Given the description of an element on the screen output the (x, y) to click on. 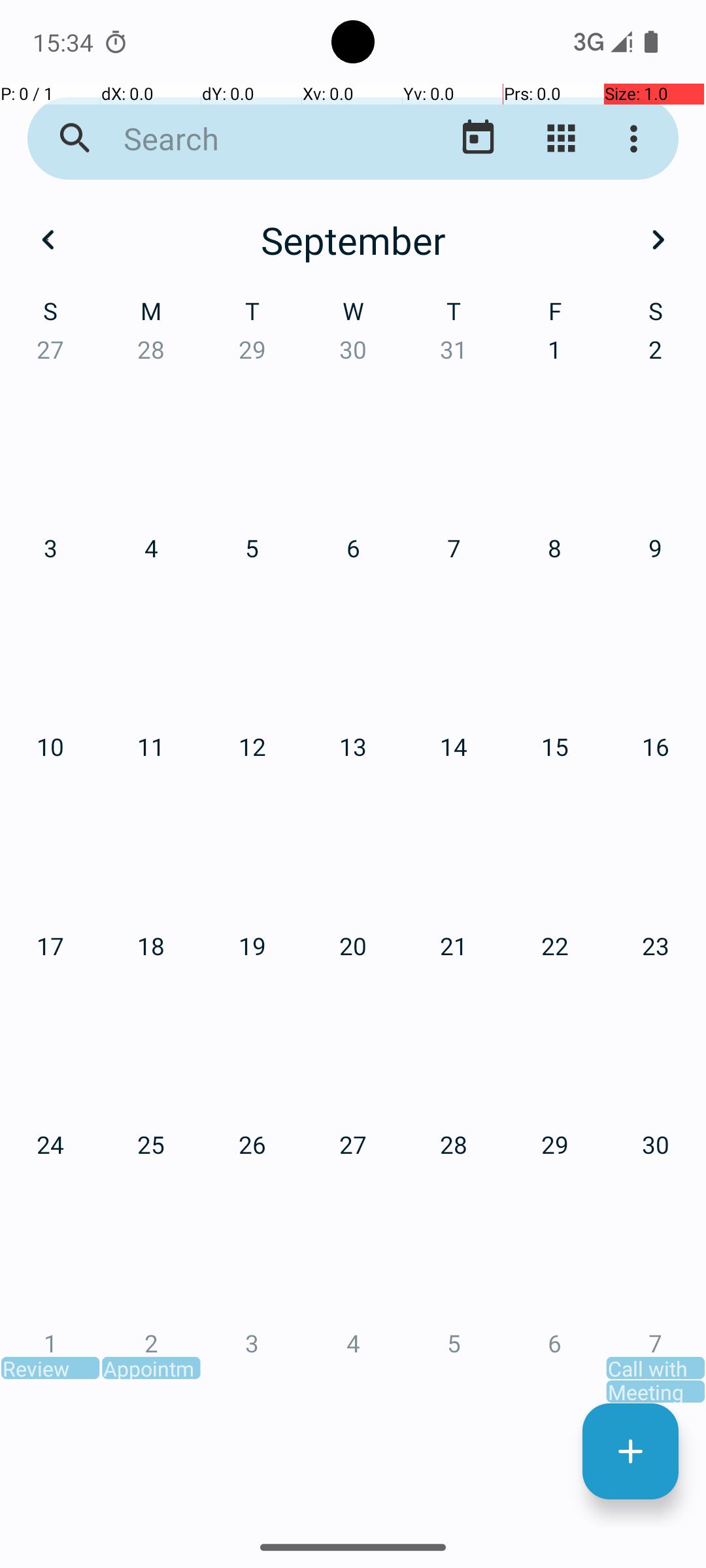
September Element type: android.widget.TextView (352, 239)
